Given the description of an element on the screen output the (x, y) to click on. 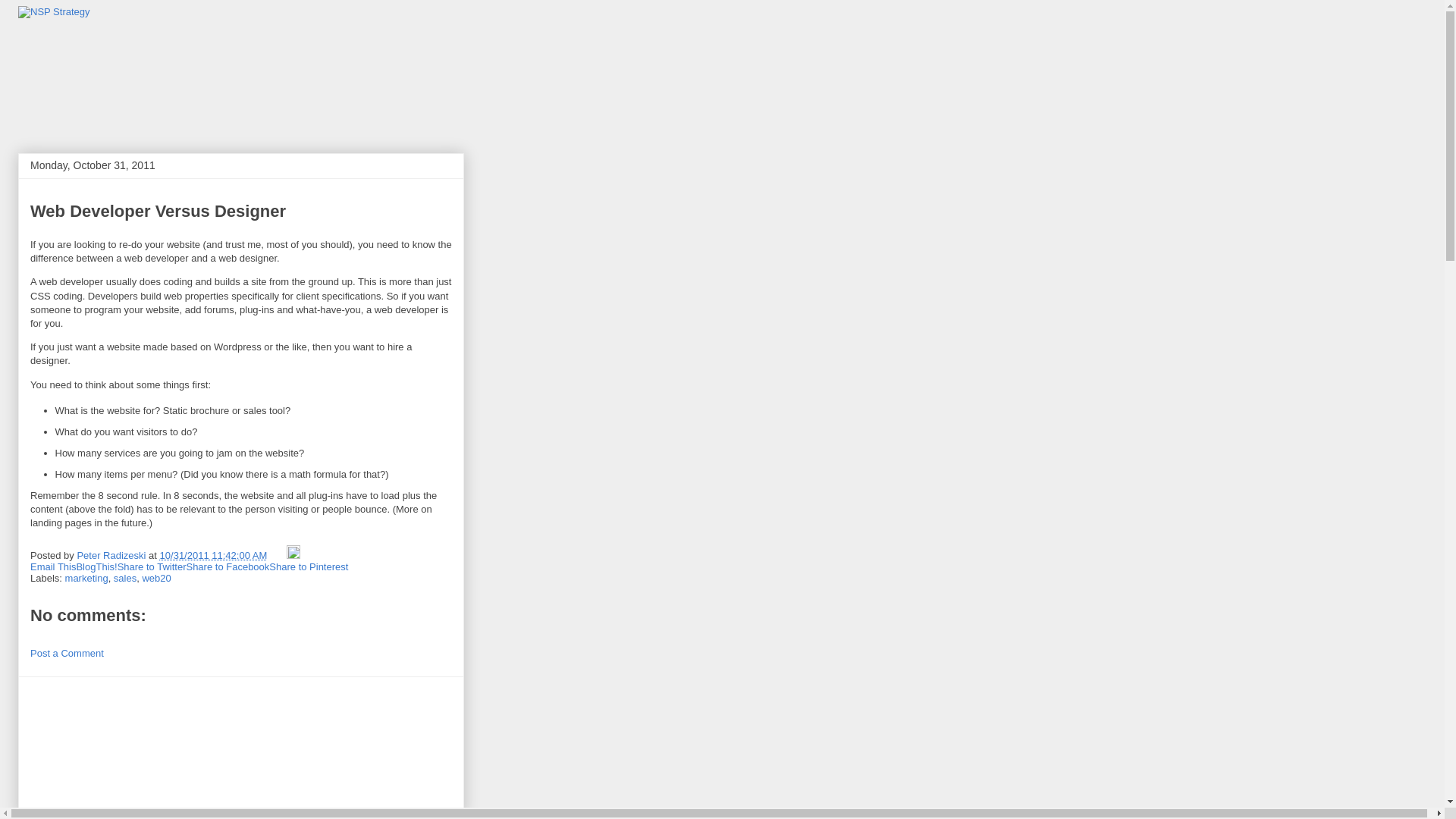
Edit Post (292, 555)
Share to Pinterest (308, 566)
BlogThis! (95, 566)
Share to Twitter (151, 566)
Email This (52, 566)
permanent link (213, 555)
Peter Radizeski (112, 555)
web20 (155, 577)
author profile (112, 555)
BlogThis! (95, 566)
sales (124, 577)
Share to Pinterest (308, 566)
Email Post (277, 555)
Post a Comment (66, 653)
Email This (52, 566)
